Given the description of an element on the screen output the (x, y) to click on. 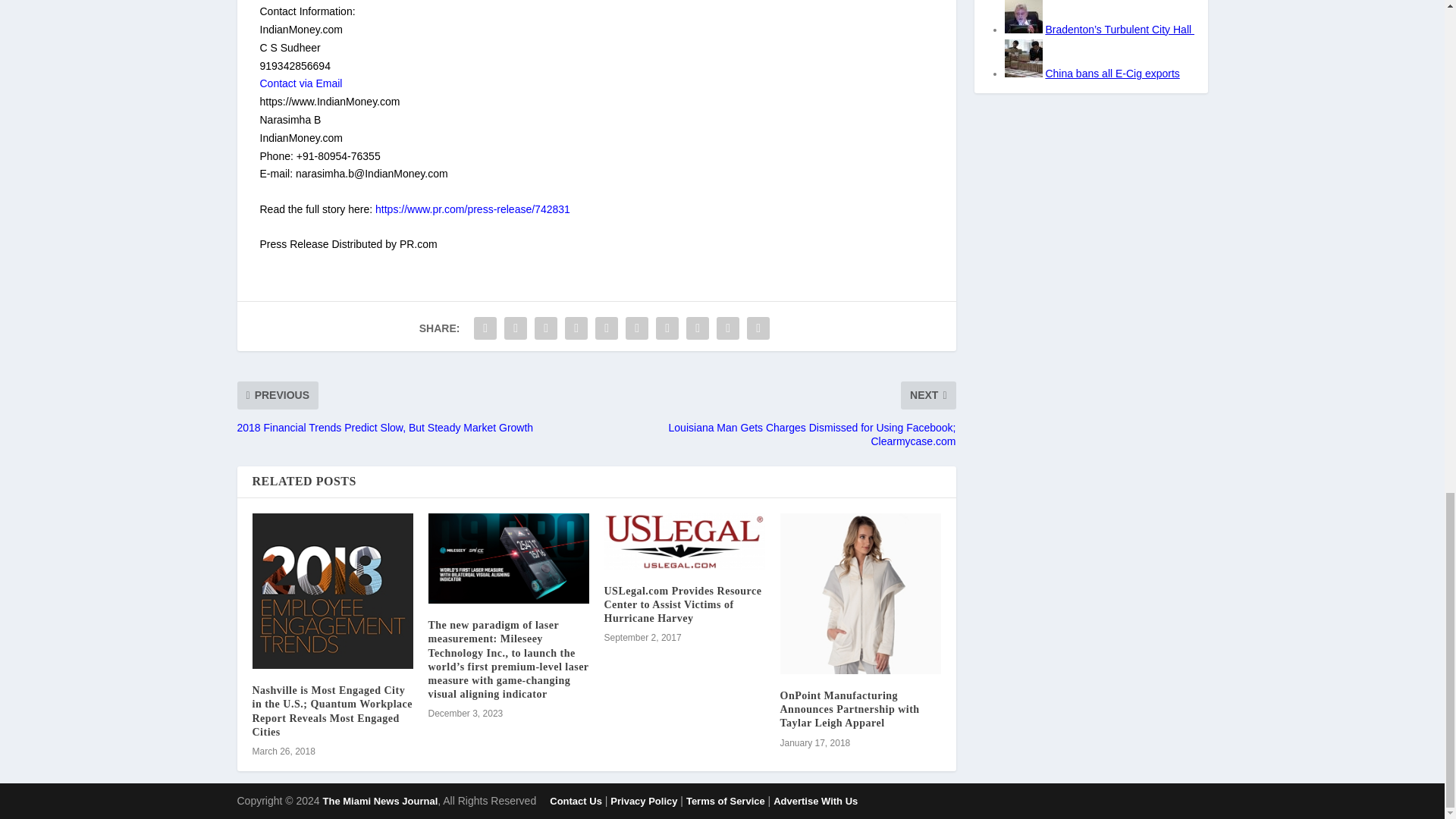
Contact via Email (300, 82)
